Given the description of an element on the screen output the (x, y) to click on. 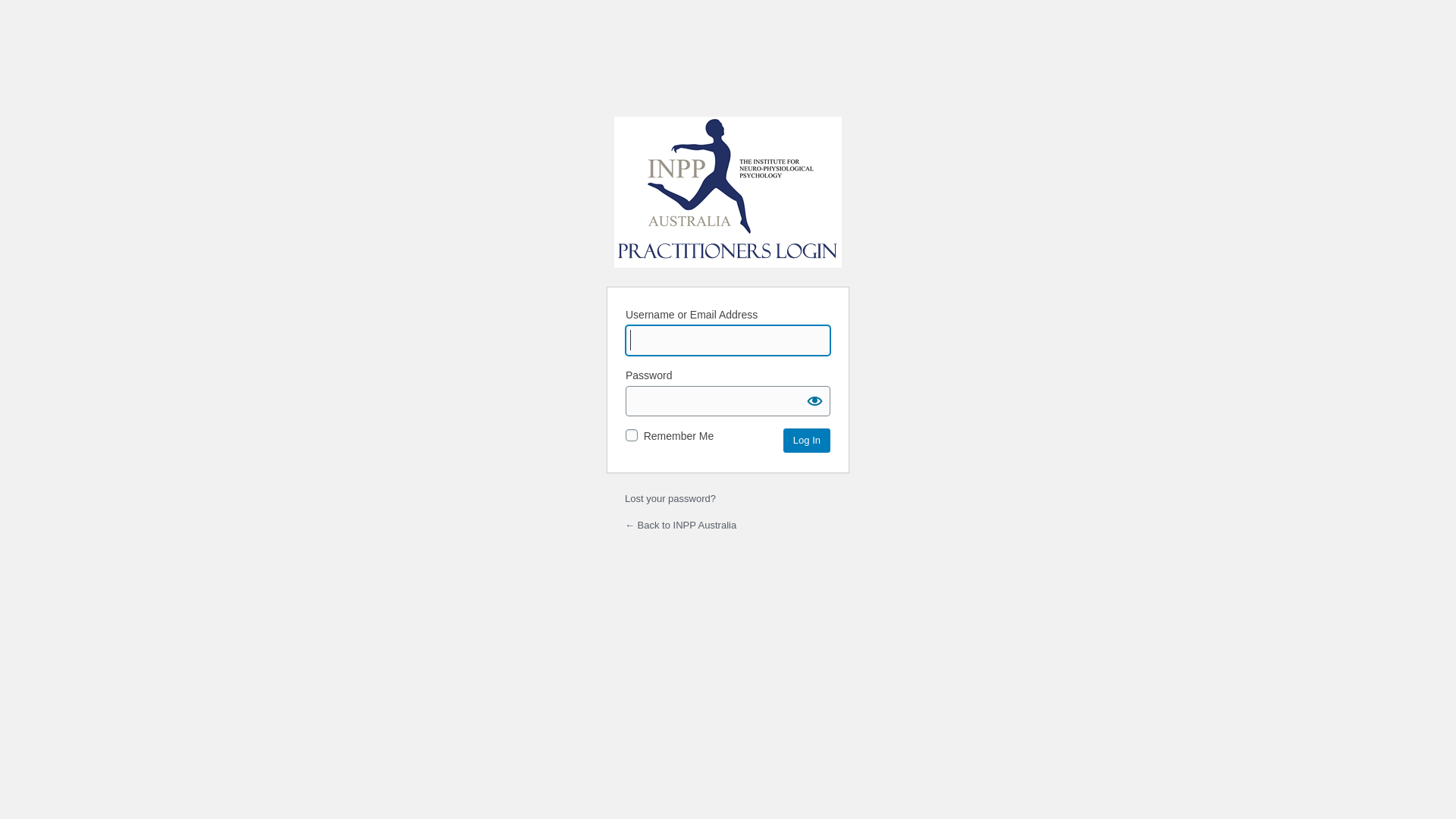
Lost your password? Element type: text (669, 498)
Log In Element type: text (806, 440)
